Given the description of an element on the screen output the (x, y) to click on. 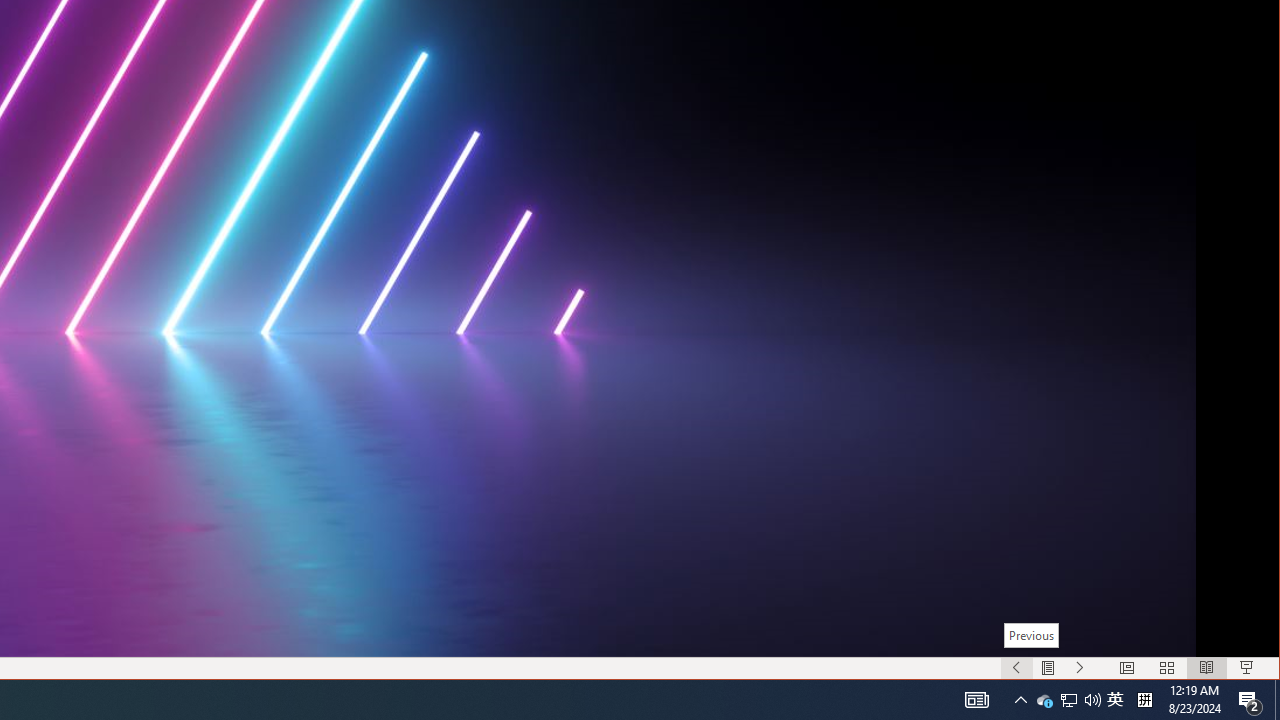
Previous (1030, 635)
